Given the description of an element on the screen output the (x, y) to click on. 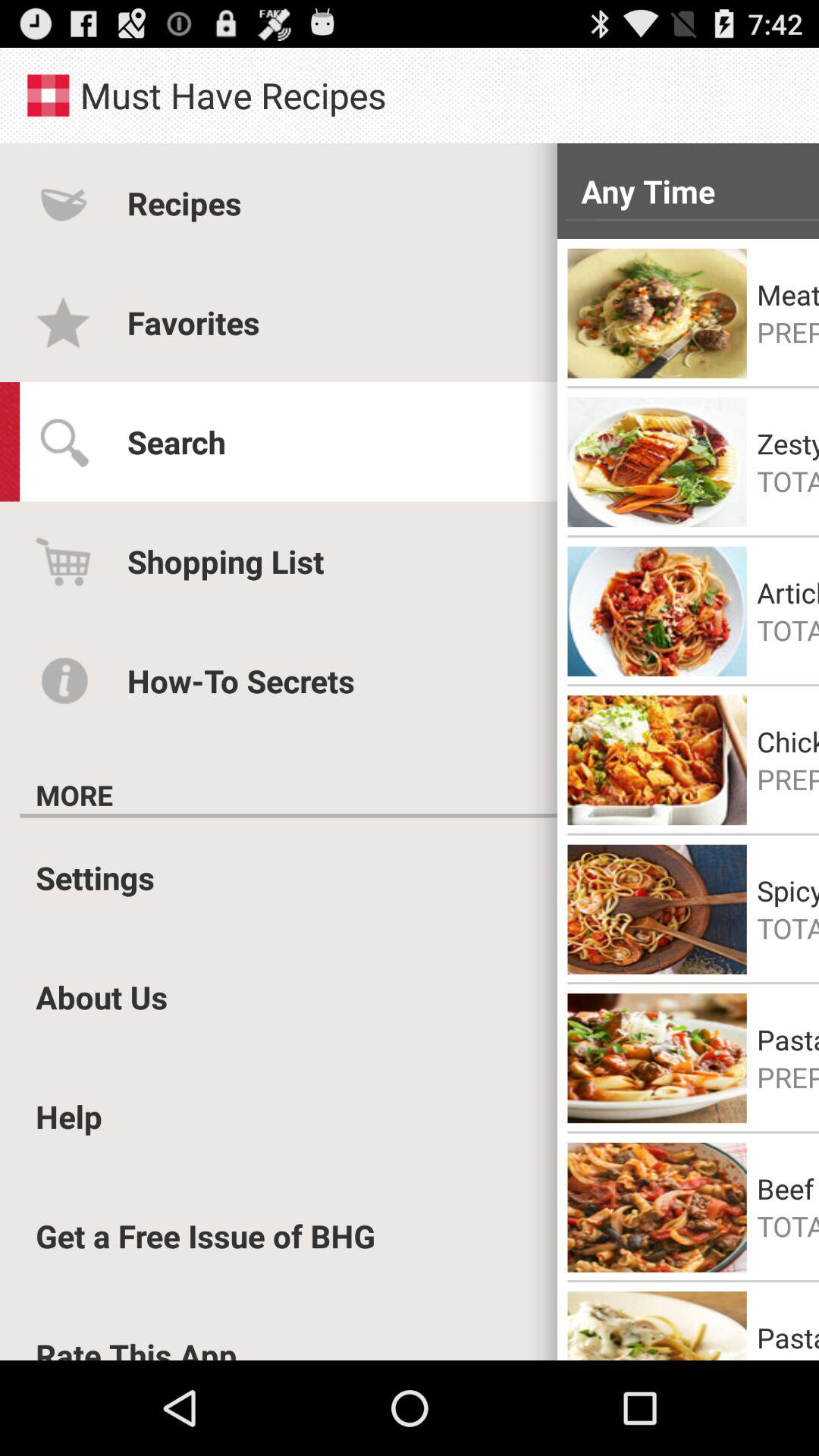
turn off the app below the settings item (101, 996)
